Given the description of an element on the screen output the (x, y) to click on. 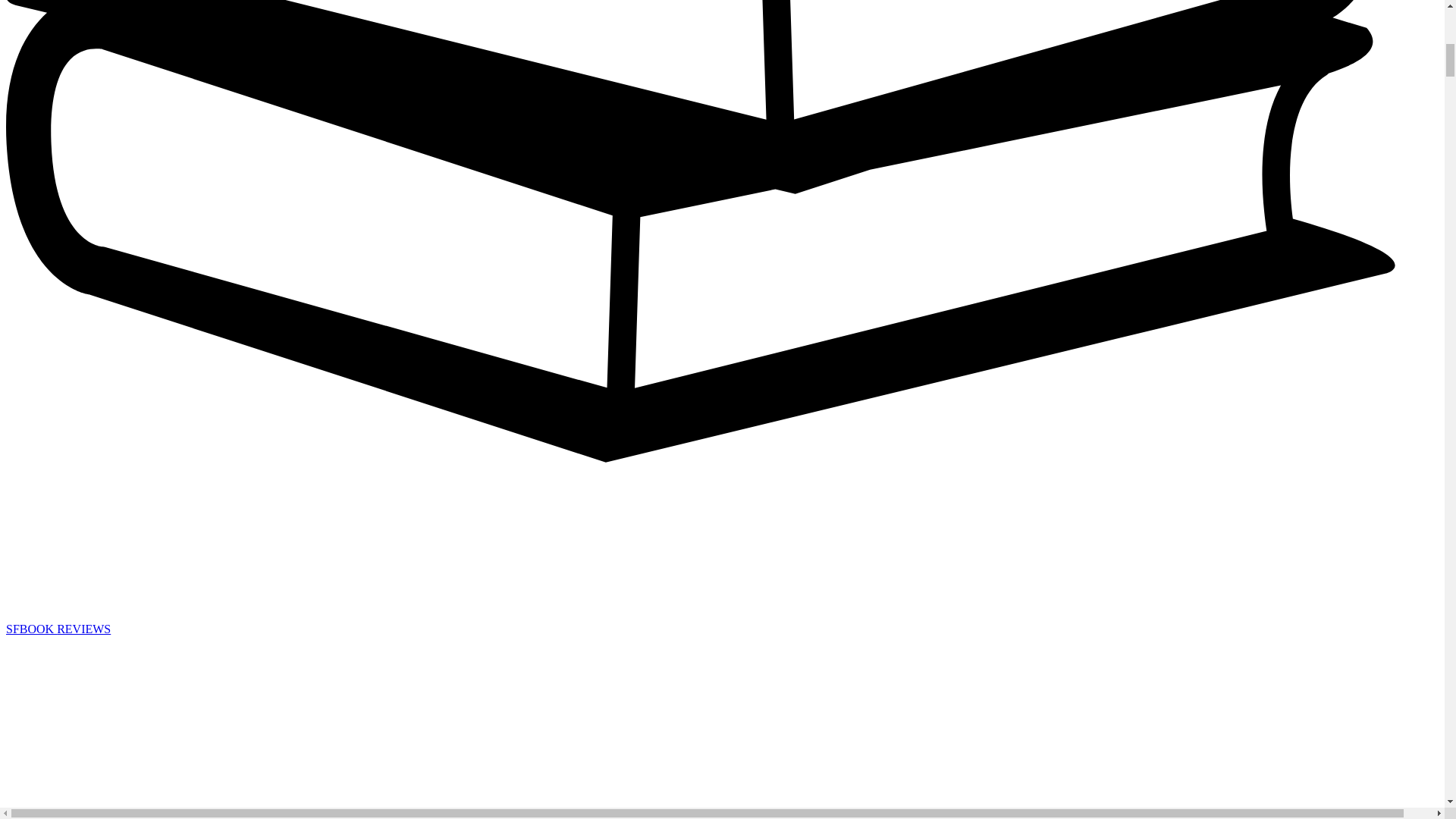
SFBOOK REVIEWS (57, 628)
